Given the description of an element on the screen output the (x, y) to click on. 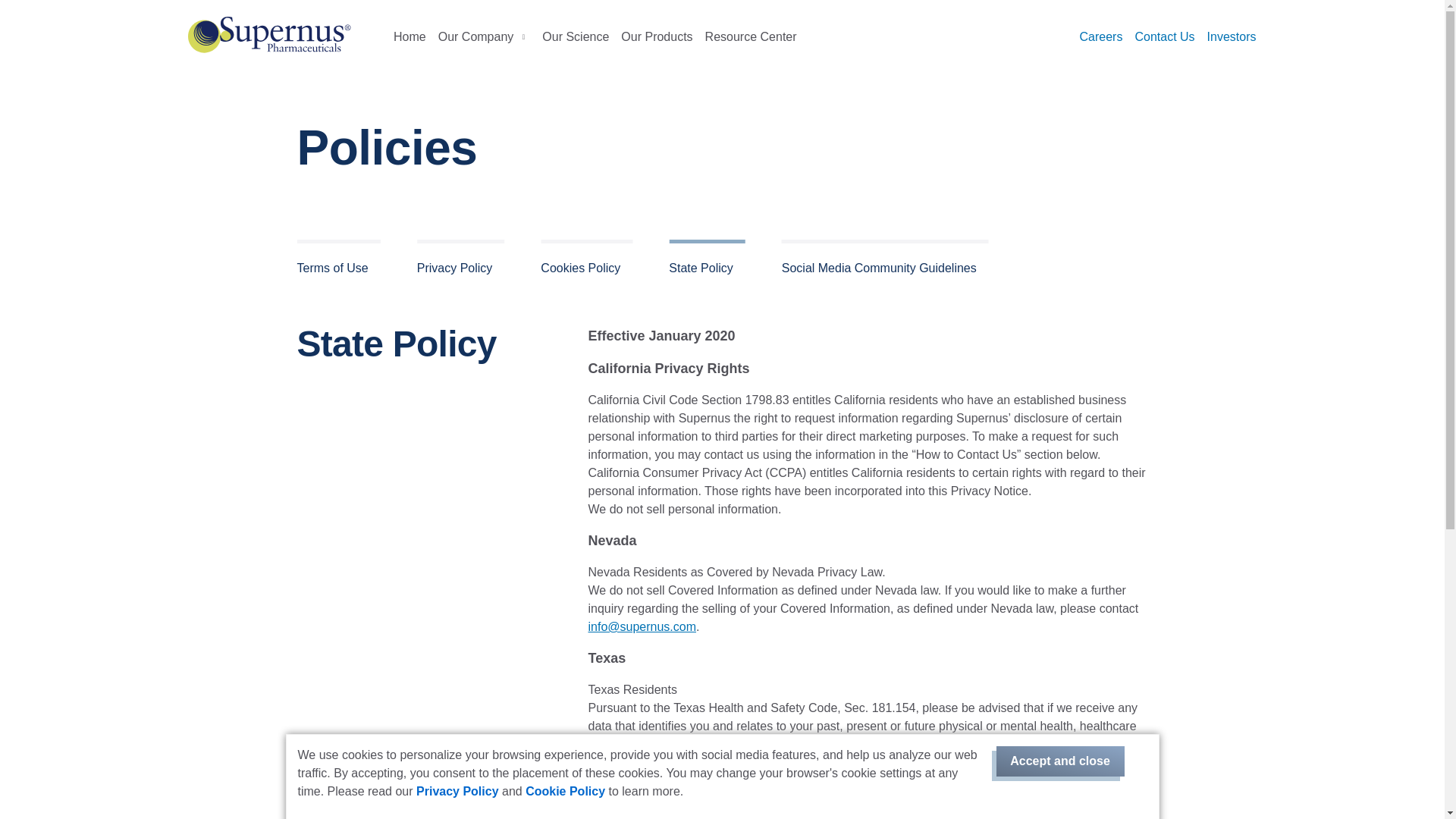
Our Company (484, 36)
Skip to main content (721, 1)
Social Media Community Guidelines (884, 262)
Our Science (574, 36)
Privacy Policy (457, 790)
Accept and close (1059, 761)
Careers (1101, 36)
Our Products (656, 36)
Terms of Use (338, 262)
Privacy Policy (460, 262)
